Given the description of an element on the screen output the (x, y) to click on. 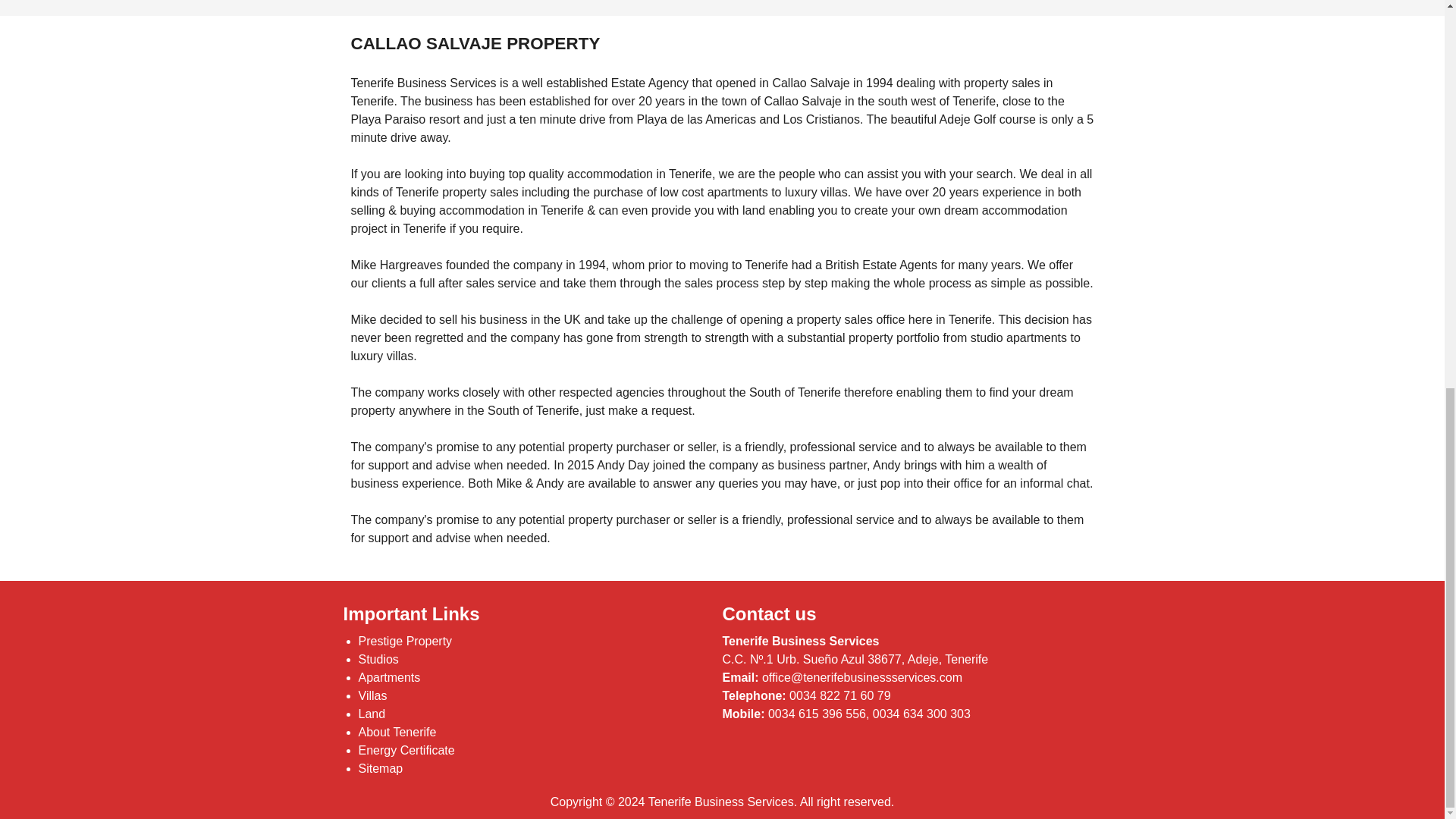
Energy Certificate (406, 749)
Villas (372, 695)
Sitemap (380, 768)
Studios (377, 658)
Land (371, 713)
About Tenerife (396, 731)
Prestige Property (404, 640)
Apartments (389, 676)
